Given the description of an element on the screen output the (x, y) to click on. 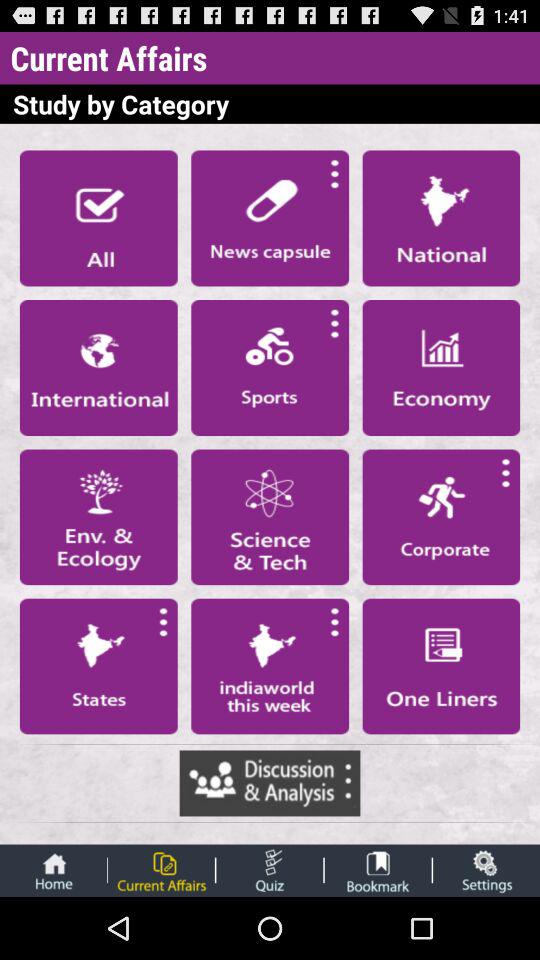
go to the national category (441, 218)
